Given the description of an element on the screen output the (x, y) to click on. 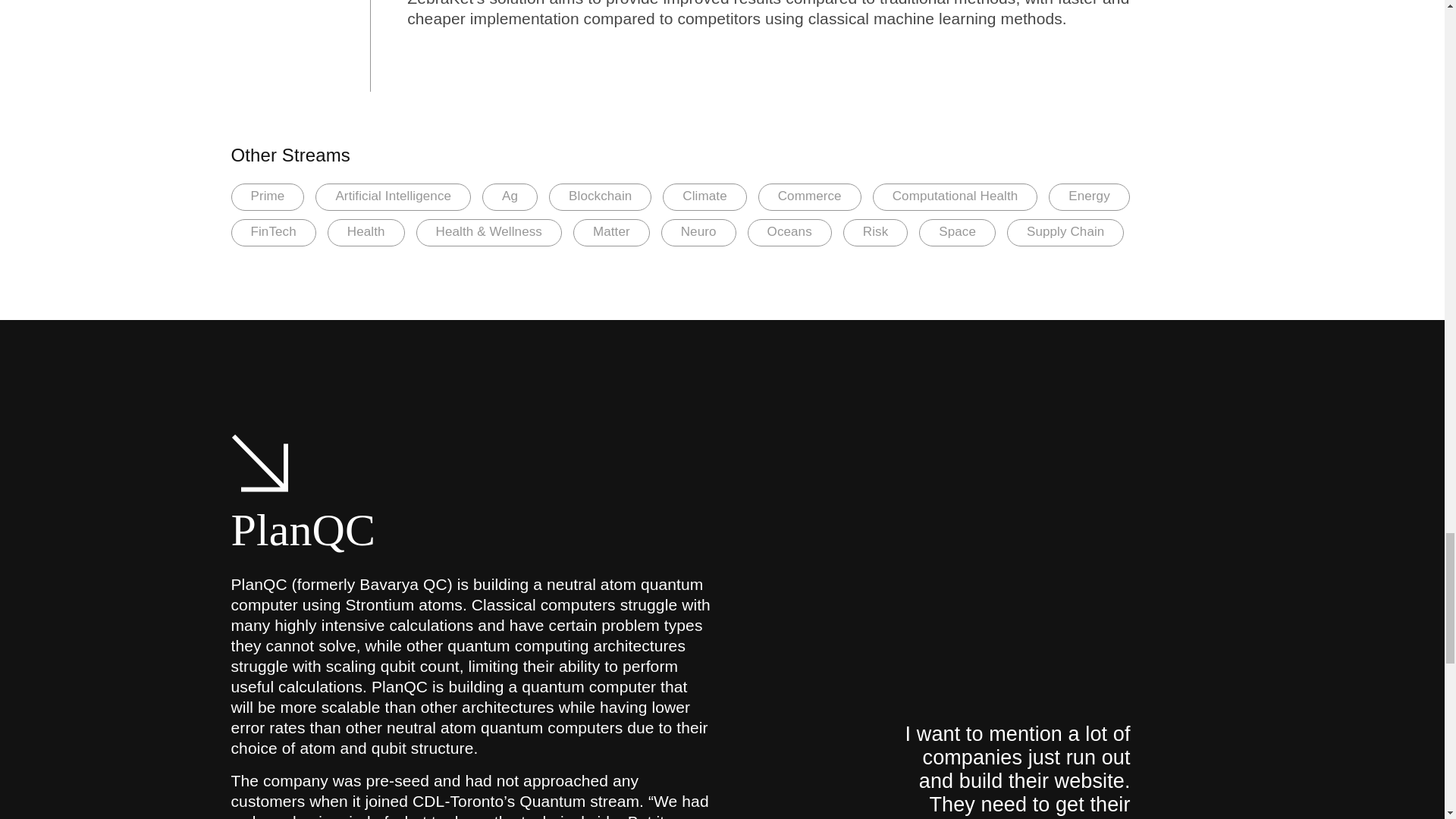
Commerce (809, 196)
Neuro (698, 232)
Energy (1088, 196)
Prime (267, 196)
Oceans (789, 232)
Health (365, 232)
FinTech (272, 232)
Ag (509, 196)
Matter (611, 232)
Climate (703, 196)
Artificial Intelligence (392, 196)
Computational Health (955, 196)
Blockchain (599, 196)
